Given the description of an element on the screen output the (x, y) to click on. 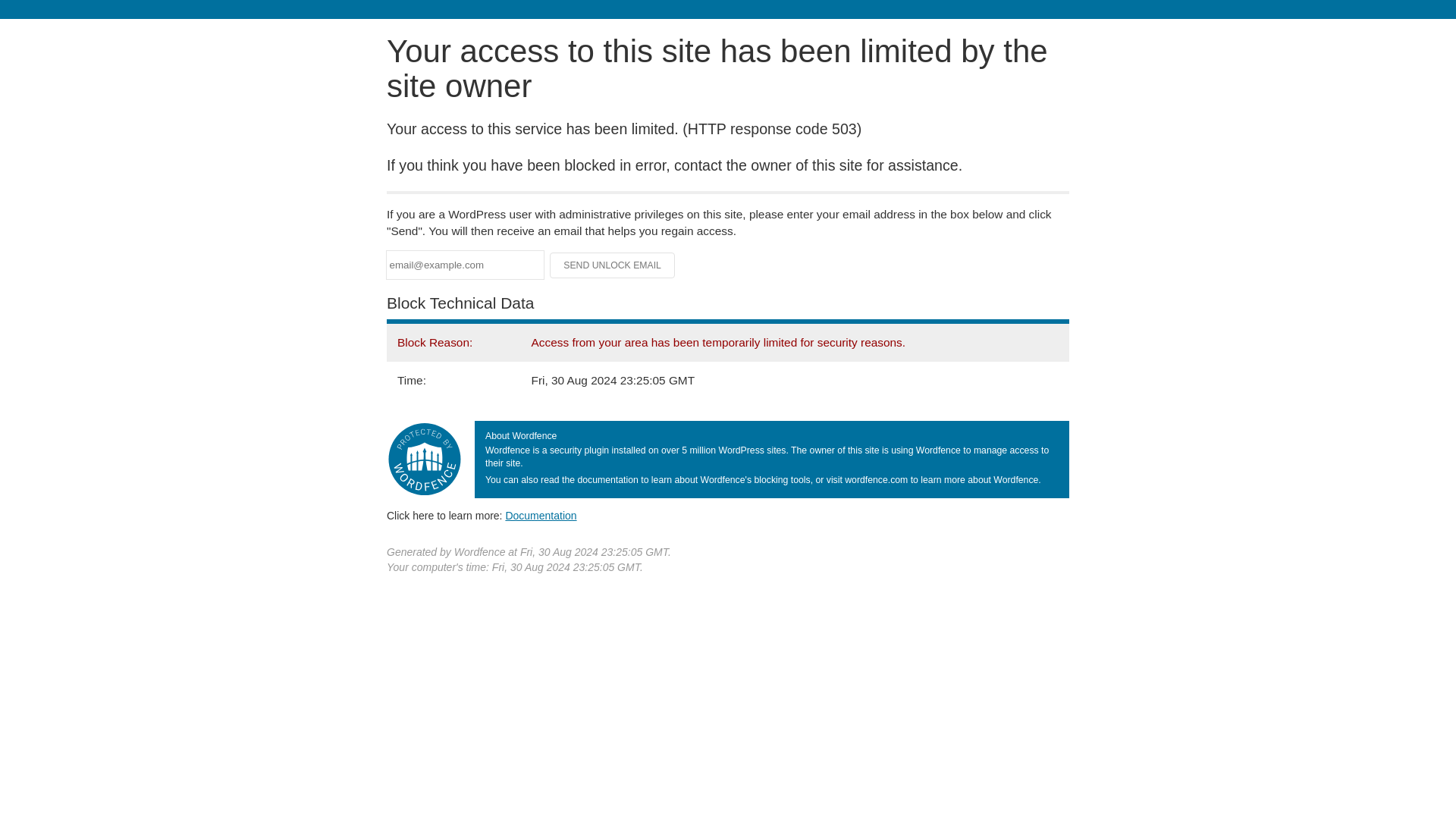
Send Unlock Email (612, 265)
Documentation (540, 515)
Send Unlock Email (612, 265)
